Given the description of an element on the screen output the (x, y) to click on. 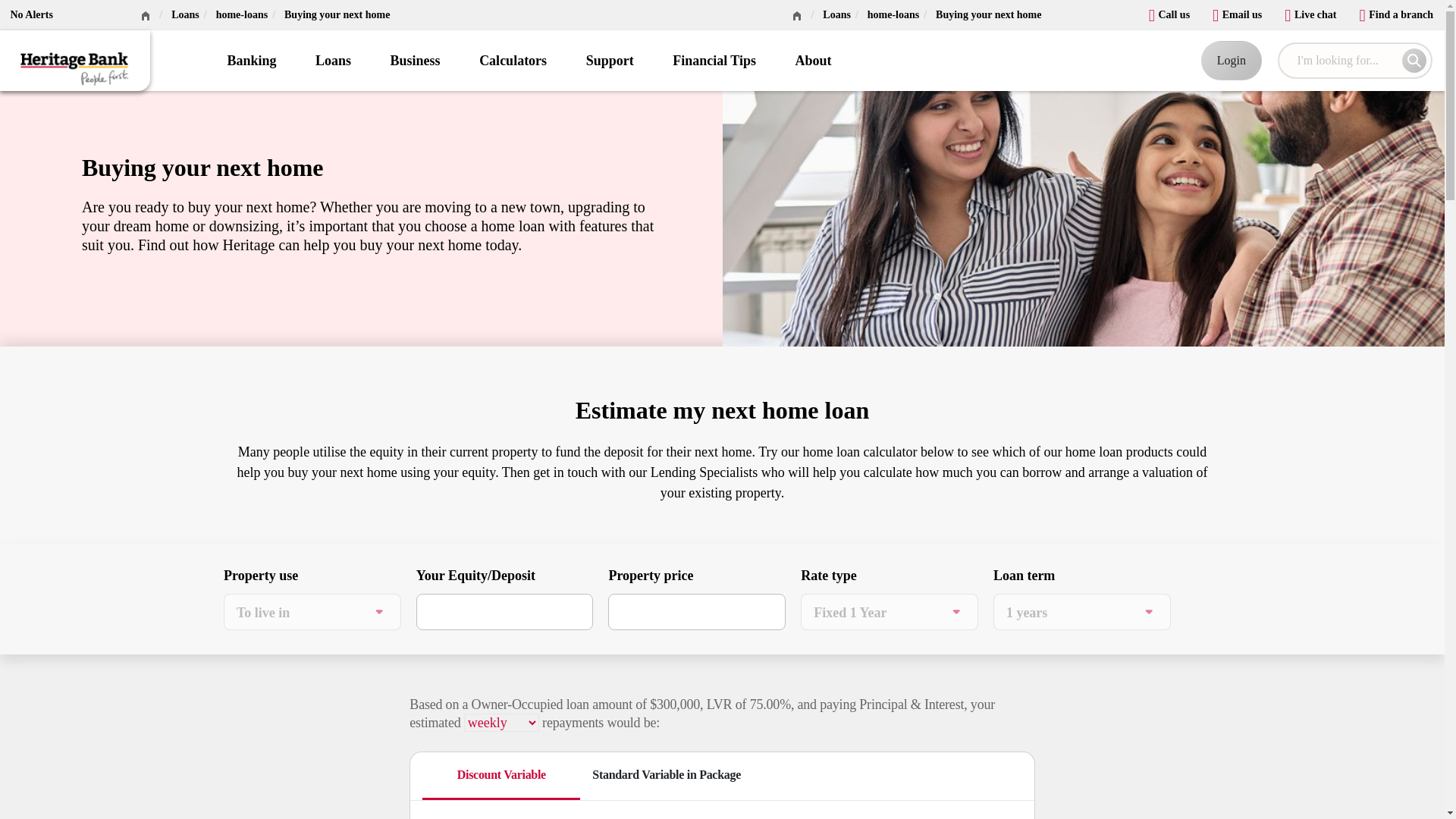
Buying your next home (336, 14)
Find a branch (1395, 11)
Buying your next home (988, 14)
Alert Button (30, 13)
Search (1414, 60)
Loans (836, 14)
Call us (1168, 11)
Loans (185, 14)
Live chat (1310, 11)
home-loans (241, 14)
